Given the description of an element on the screen output the (x, y) to click on. 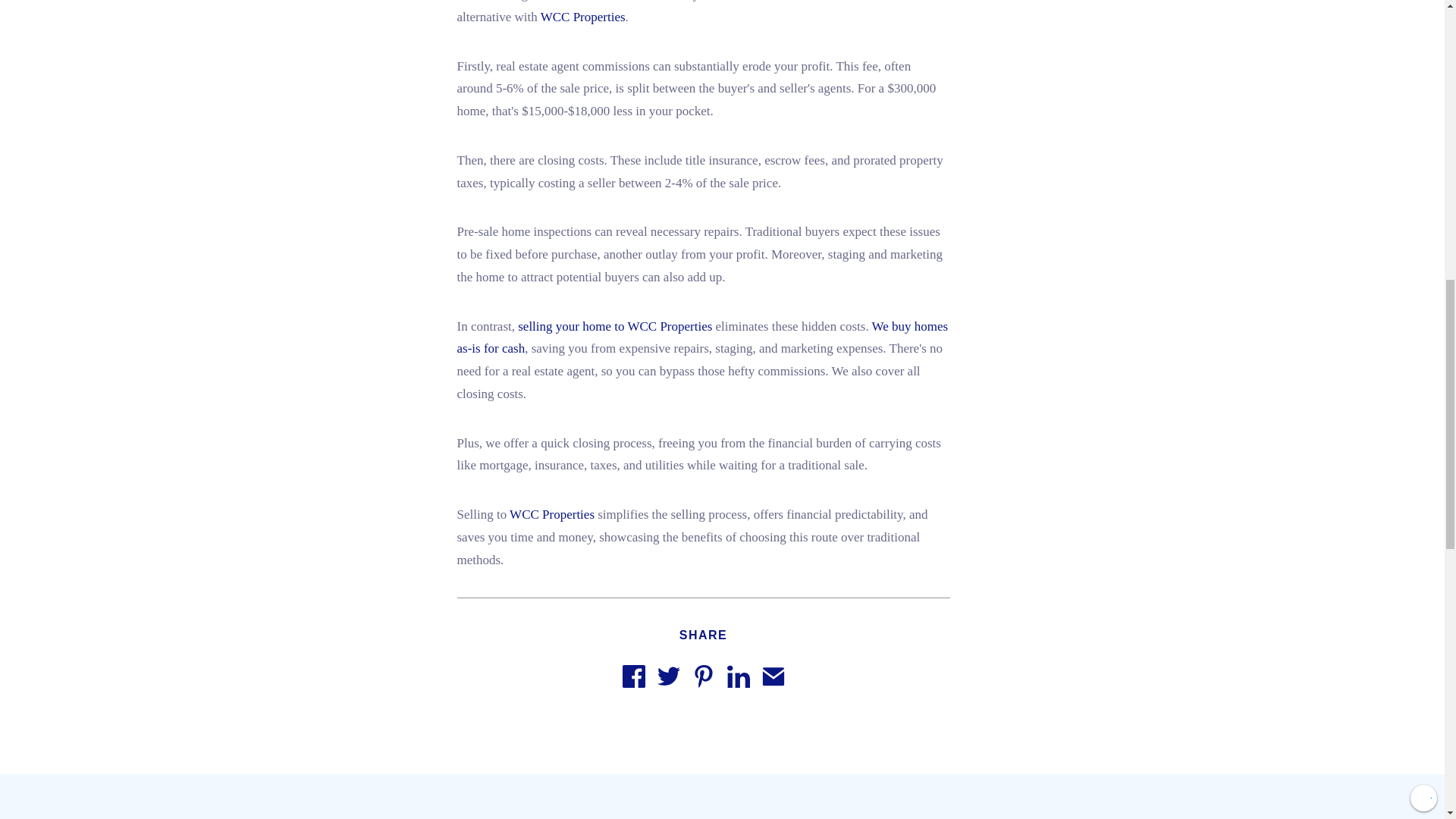
WCC Properties (551, 513)
selling your home to WCC Properties (614, 325)
WCC Properties (583, 16)
We buy homes as-is for cash (702, 336)
